Given the description of an element on the screen output the (x, y) to click on. 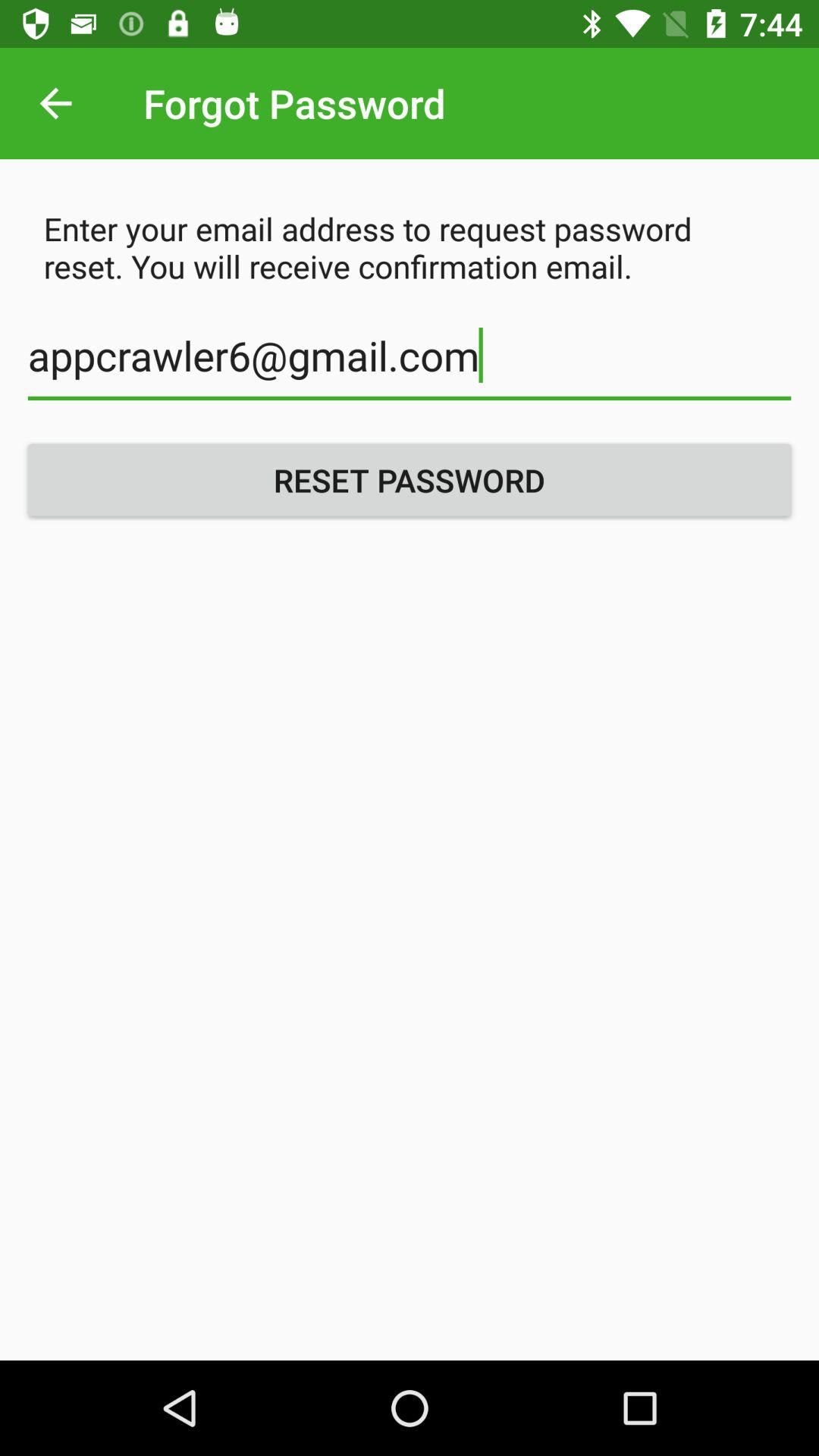
tap icon below the enter your email icon (409, 363)
